Given the description of an element on the screen output the (x, y) to click on. 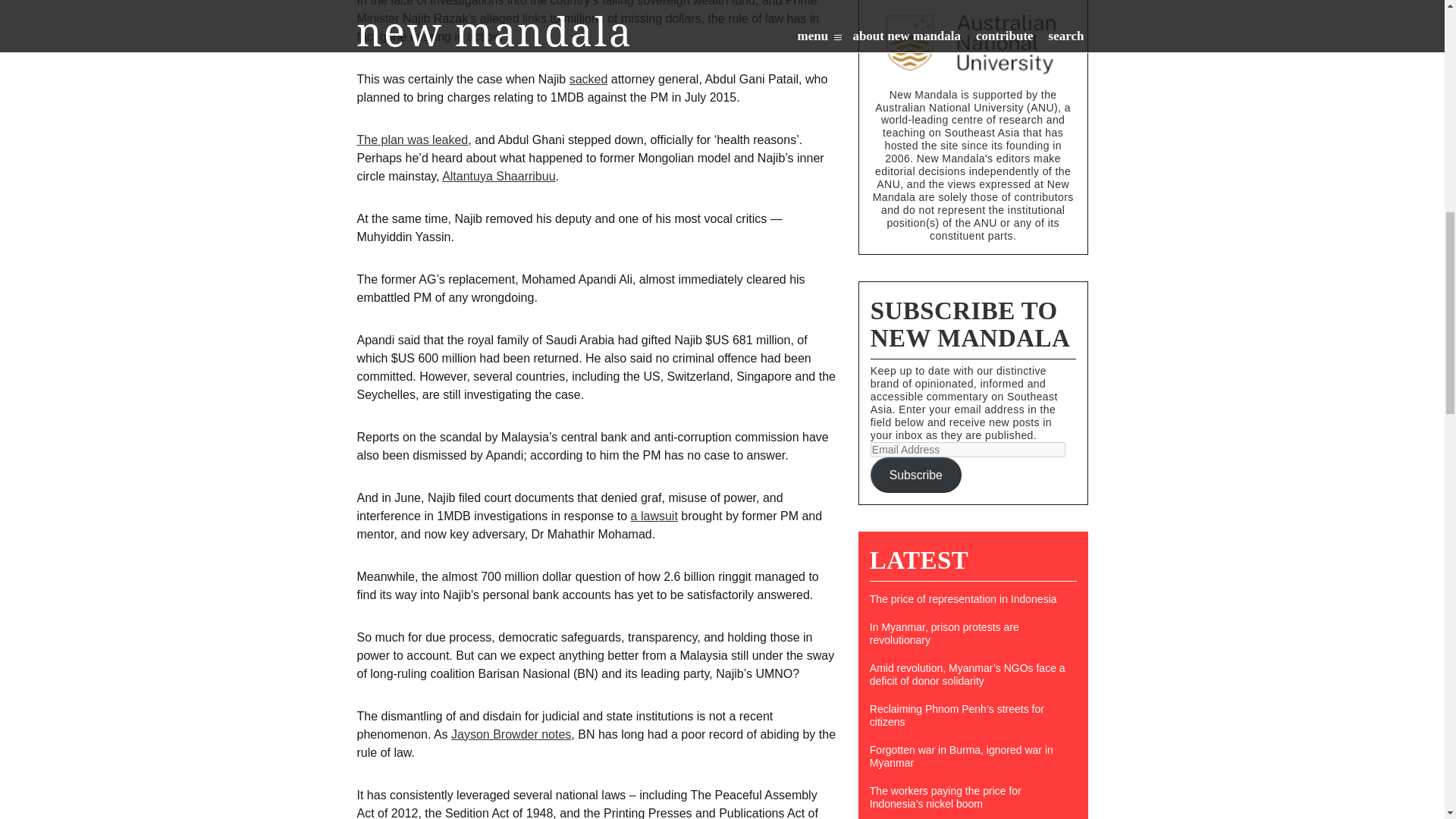
The price of representation in Indonesia (973, 599)
Altantuya Shaarribuu (498, 175)
sacked (588, 78)
Jayson Browder notes (510, 734)
Subscribe (915, 475)
a lawsuit (654, 515)
In Myanmar, prison protests are revolutionary (973, 633)
The plan was leaked (411, 139)
LATEST (918, 560)
